Given the description of an element on the screen output the (x, y) to click on. 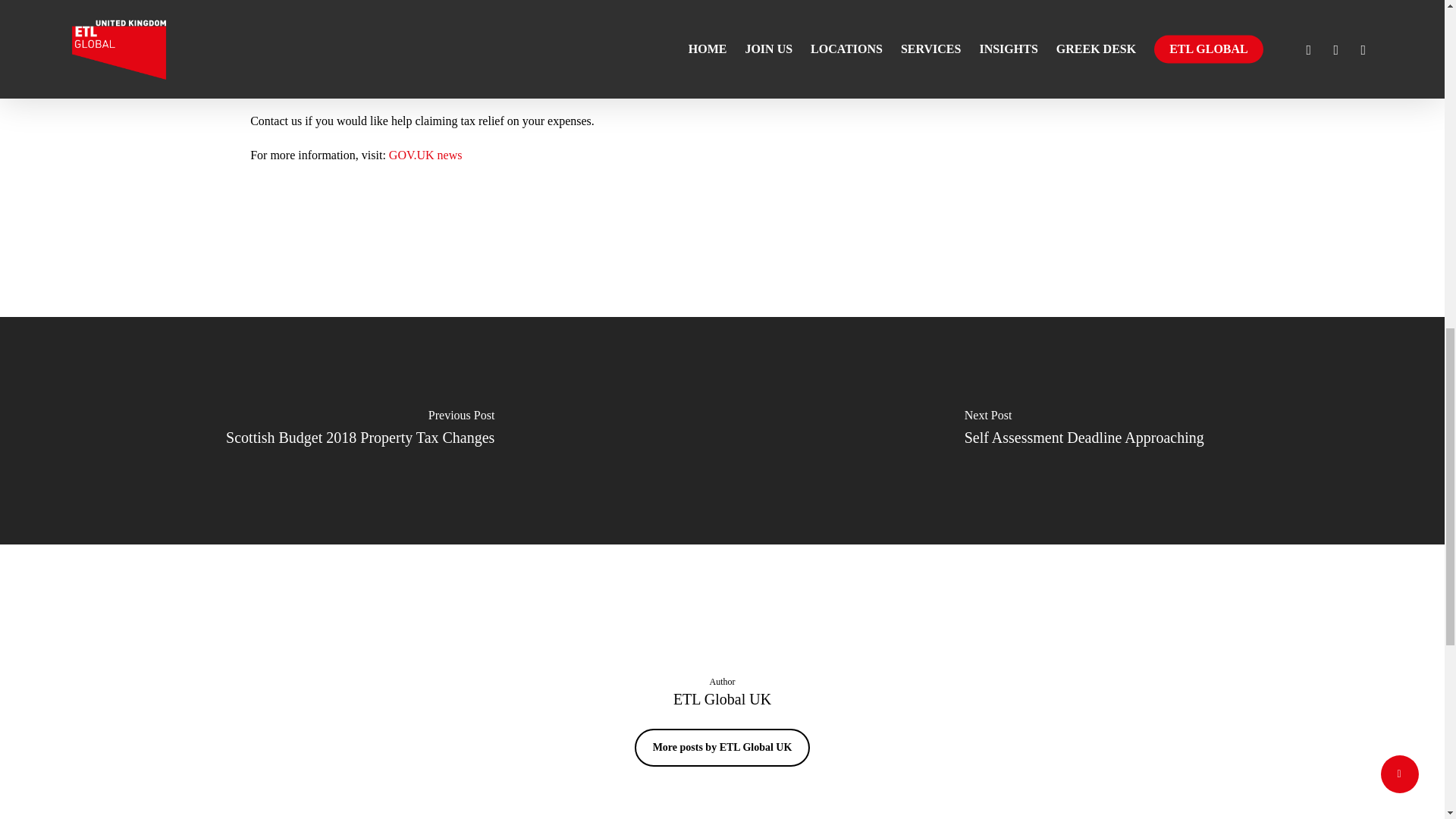
GOV.UK news (425, 154)
More posts by ETL Global UK (722, 747)
